Given the description of an element on the screen output the (x, y) to click on. 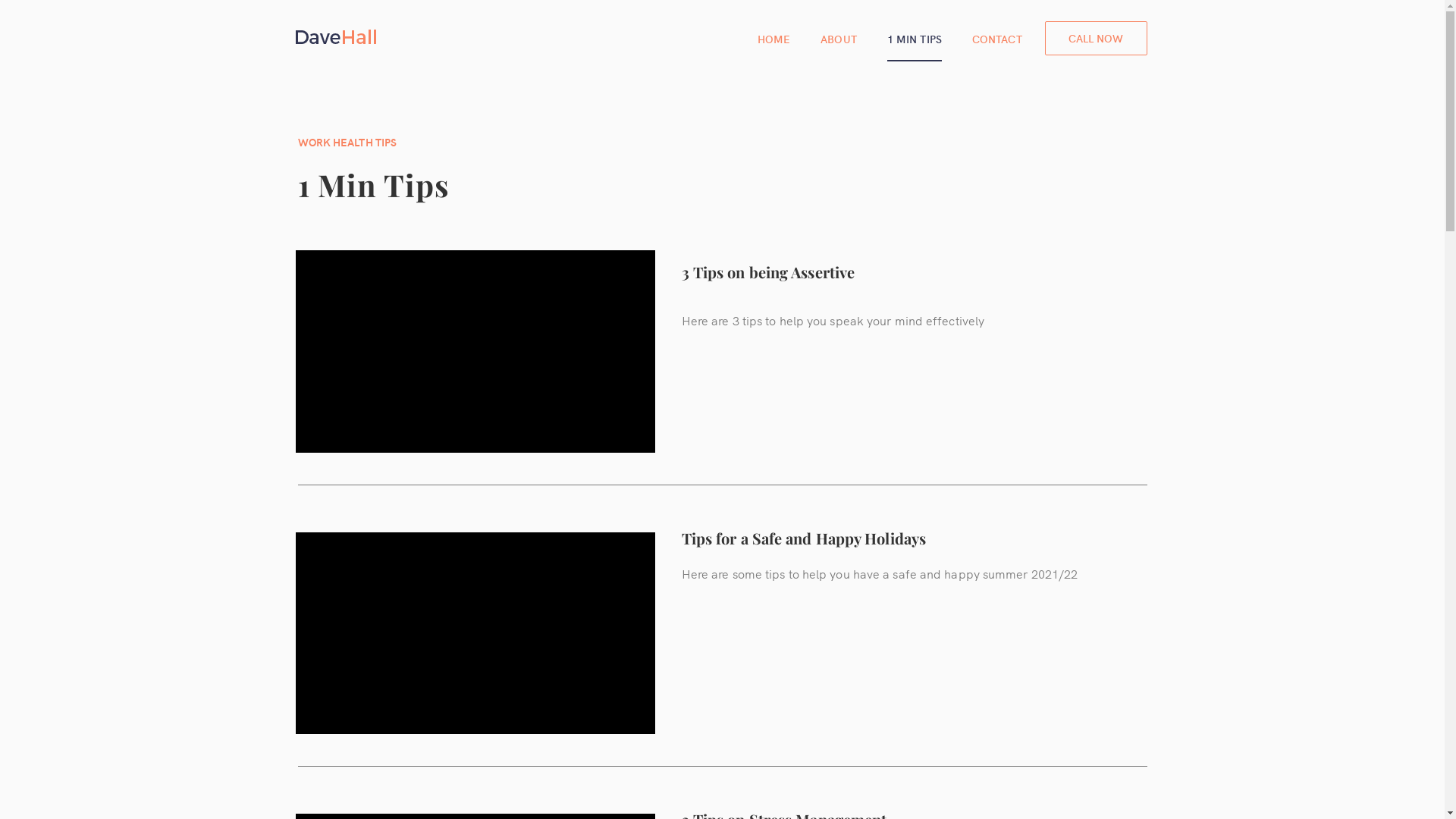
1 MIN TIPS Element type: text (914, 38)
youtube Video Player Element type: hover (475, 633)
HOME Element type: text (773, 38)
youtube Video Player Element type: hover (475, 351)
CONTACT Element type: text (997, 38)
CALL NOW Element type: text (1095, 38)
ABOUT Element type: text (838, 38)
